Given the description of an element on the screen output the (x, y) to click on. 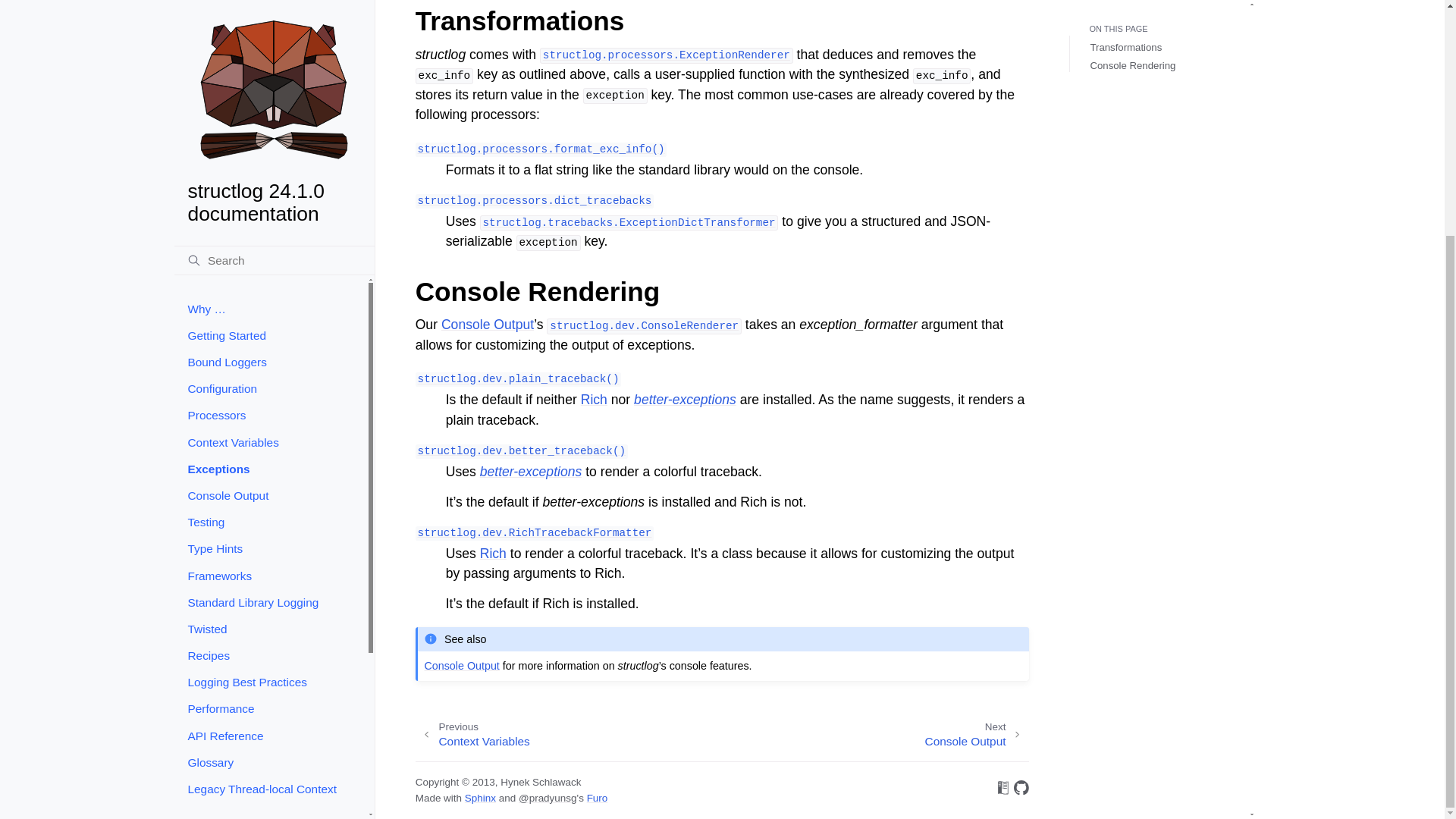
PyPI (270, 559)
Logging Best Practices (270, 361)
Frameworks (270, 254)
Type Hints (270, 228)
Configuration (270, 67)
Bound Loggers (270, 40)
Recipes (270, 334)
structlog.processors.ExceptionRenderer (666, 54)
Processors (270, 94)
API Reference (270, 415)
